Given the description of an element on the screen output the (x, y) to click on. 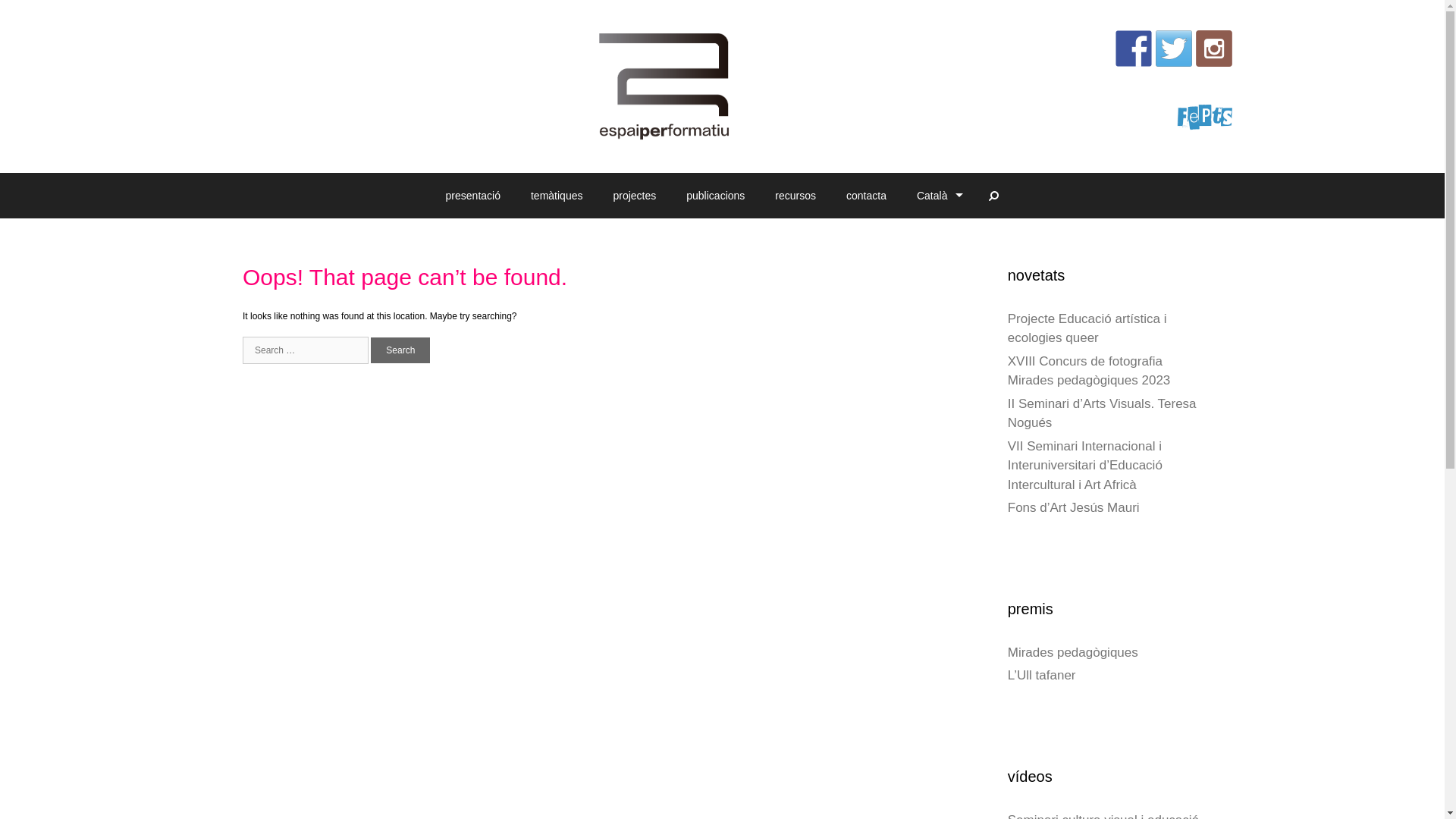
Skip to content Element type: text (29, 6)
recursos Element type: text (795, 195)
espaiperformatiu Element type: hover (663, 85)
Search Element type: text (399, 350)
Search for: Element type: hover (305, 350)
Segueix-nos a Facebook! Element type: hover (1133, 48)
Search Element type: hover (993, 195)
publicacions Element type: text (715, 195)
contacta Element type: text (866, 195)
Segueix-nos a Twitter! Element type: hover (1173, 48)
projectes Element type: text (634, 195)
espaiperformatiu Element type: hover (663, 86)
Segueix-nos a Instagram! Element type: hover (1213, 48)
